Given the description of an element on the screen output the (x, y) to click on. 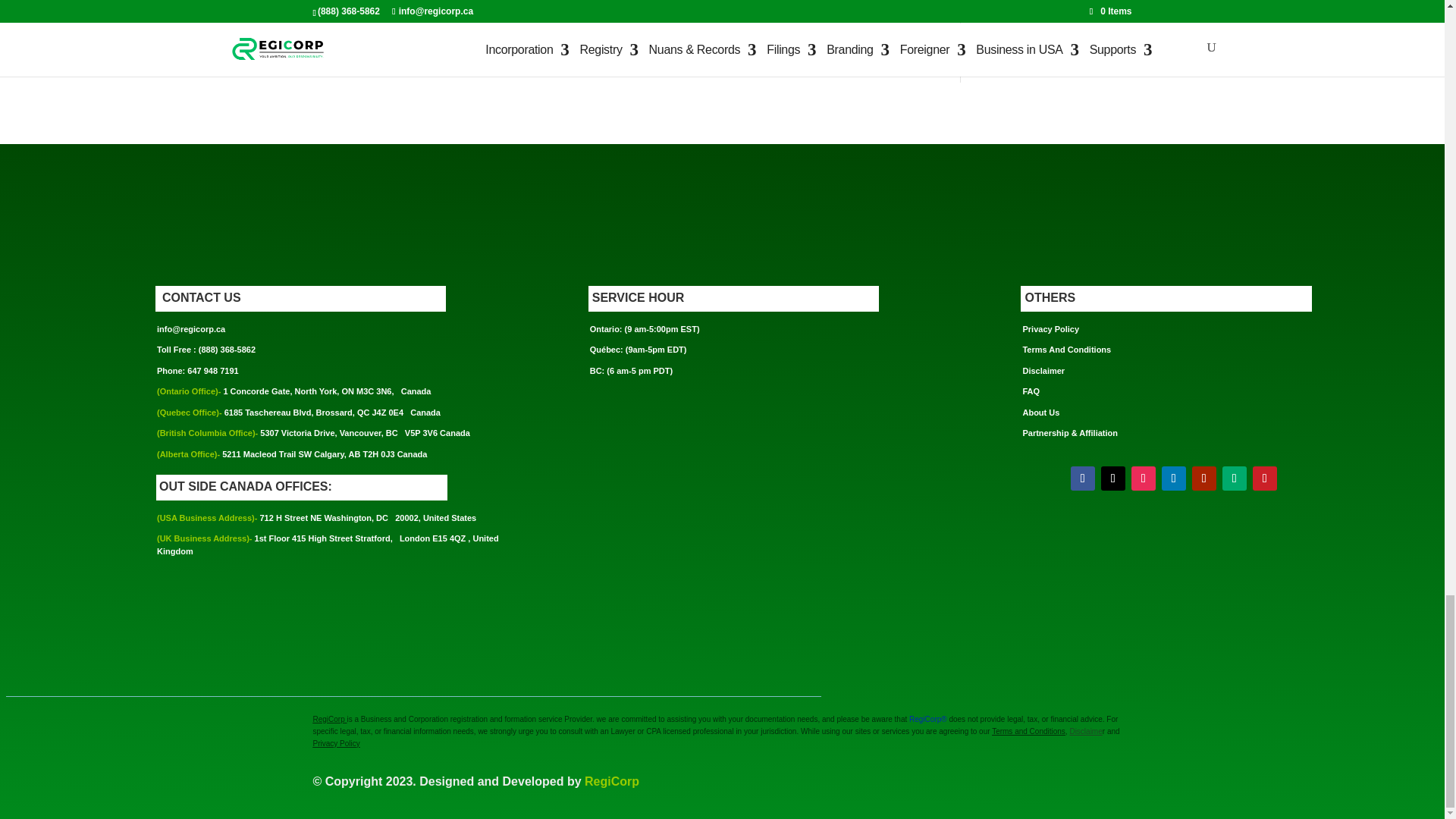
semrush agency partner (627, 595)
Follow on LinkedIn (1173, 478)
Follow on Medium (1234, 478)
Follow on Facebook (1082, 478)
Follow on Youtube (1203, 478)
Follow on Instagram (1143, 478)
ssl-certificate (628, 458)
google 5 star (634, 518)
Follow on X (1112, 478)
Follow on Pinterest (1264, 478)
